Given the description of an element on the screen output the (x, y) to click on. 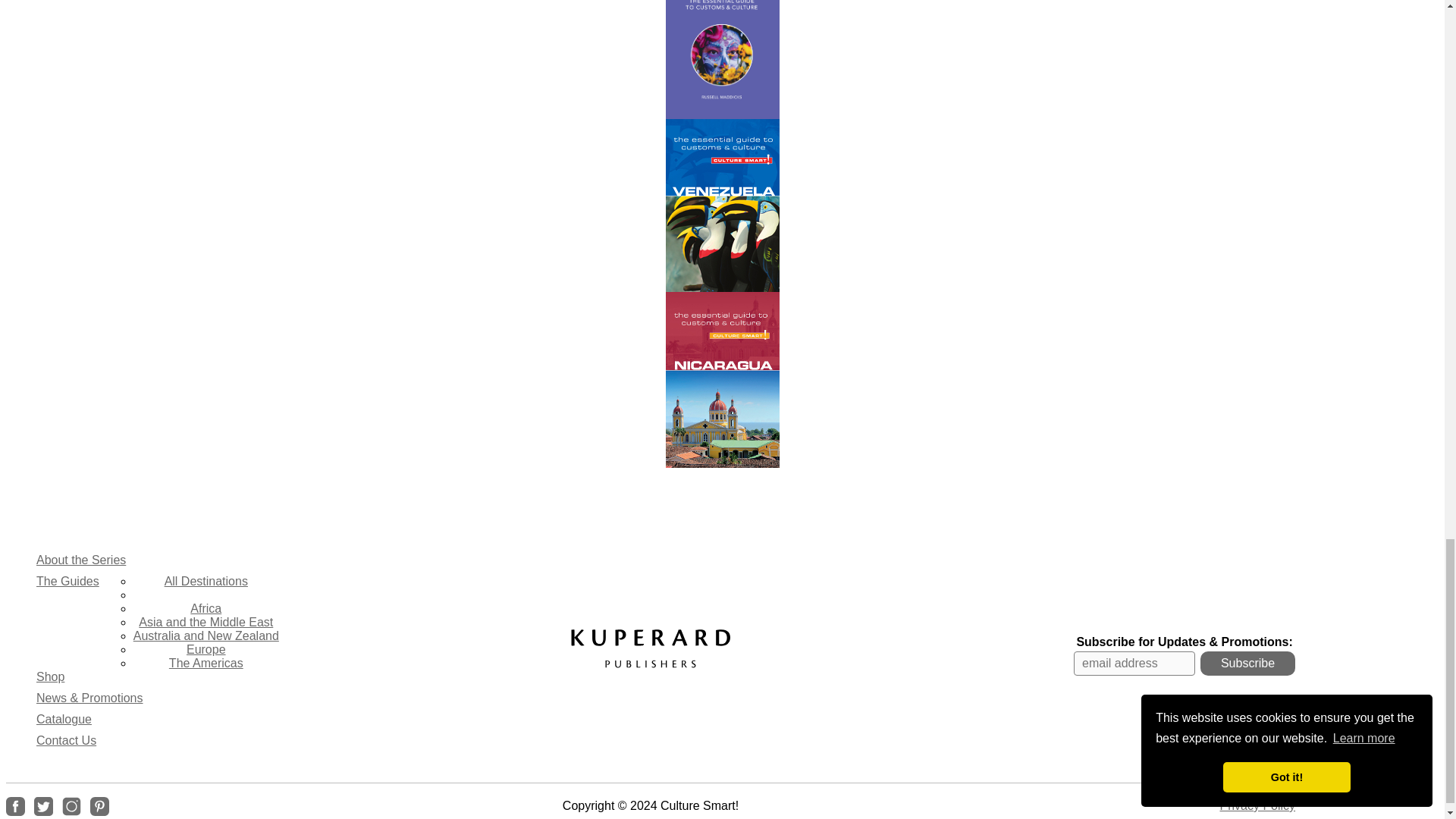
Australia and New Zealand (206, 635)
follow us on instagram (71, 805)
The Americas (205, 662)
All Destinations (205, 581)
Europe (205, 649)
Asia and the Middle East (205, 621)
follow us on facebook (14, 805)
follow us on twitter (42, 805)
Africa (205, 608)
Subscribe (1247, 663)
follow us on pininterest (99, 805)
About the Series (80, 560)
